Given the description of an element on the screen output the (x, y) to click on. 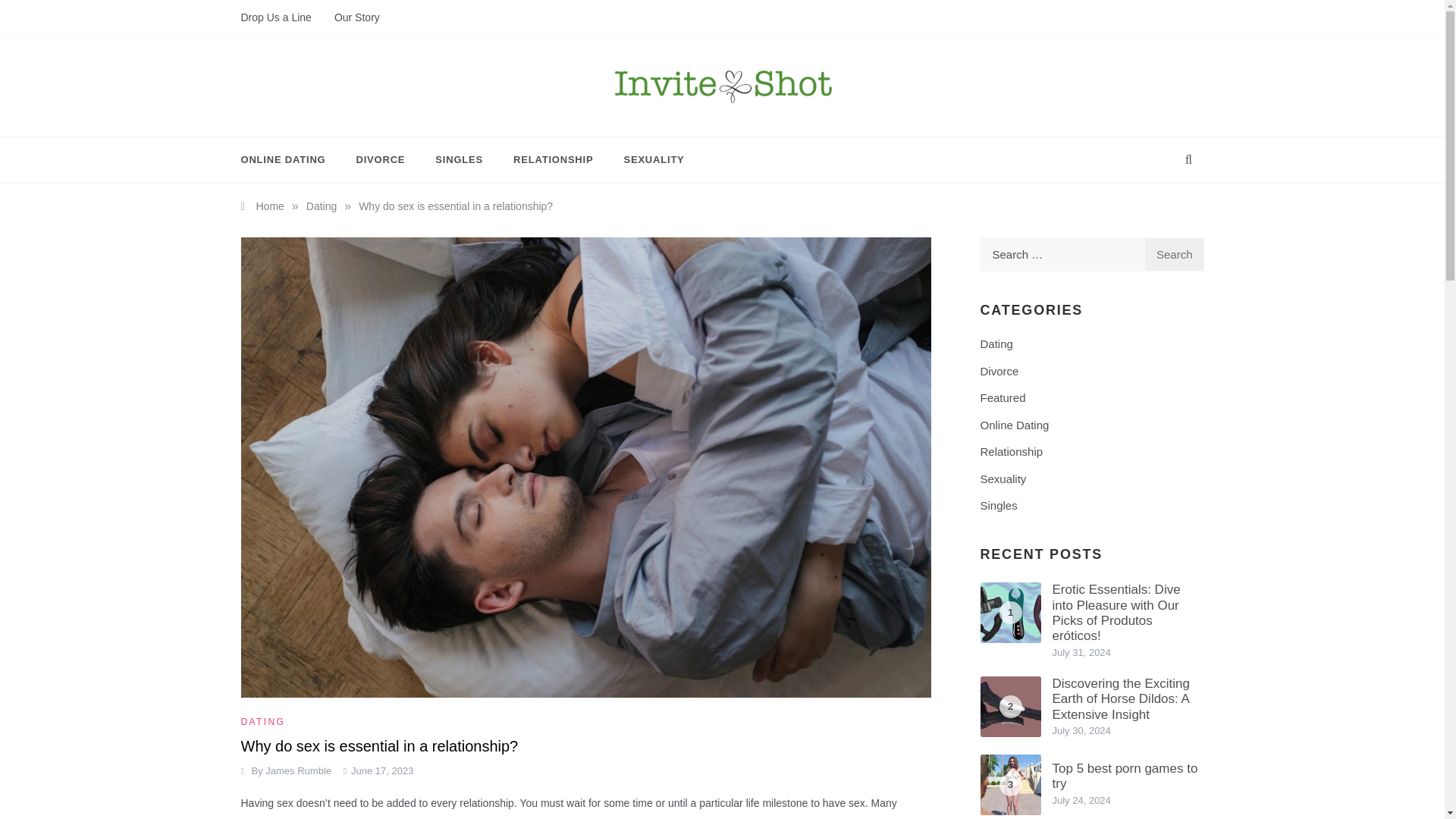
Invite Shot (622, 125)
Divorce (998, 371)
Search (1174, 254)
Search (1174, 254)
DIVORCE (380, 159)
SEXUALITY (646, 159)
June 17, 2023 (381, 770)
Featured (1002, 397)
Search (1174, 254)
RELATIONSHIP (552, 159)
Our Story (351, 17)
Drop Us a Line (282, 17)
Why do sex is essential in a relationship? (455, 205)
Dating (995, 343)
